Given the description of an element on the screen output the (x, y) to click on. 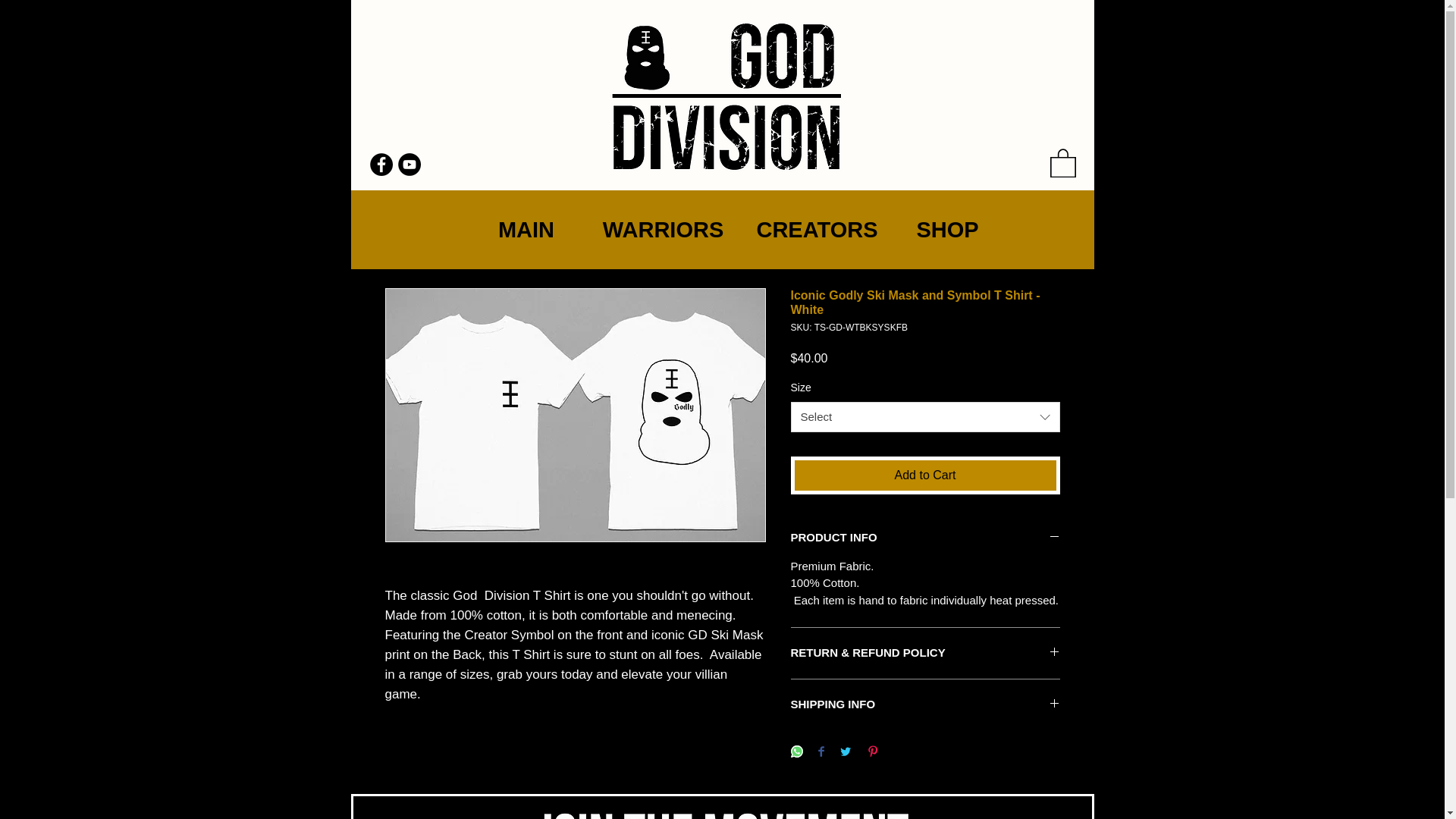
PRODUCT INFO (924, 537)
Select (924, 417)
MAIN (526, 229)
SHIPPING INFO (924, 704)
Add to Cart (924, 475)
CREATORS (816, 229)
SHOP (947, 229)
WARRIORS (662, 229)
